Given the description of an element on the screen output the (x, y) to click on. 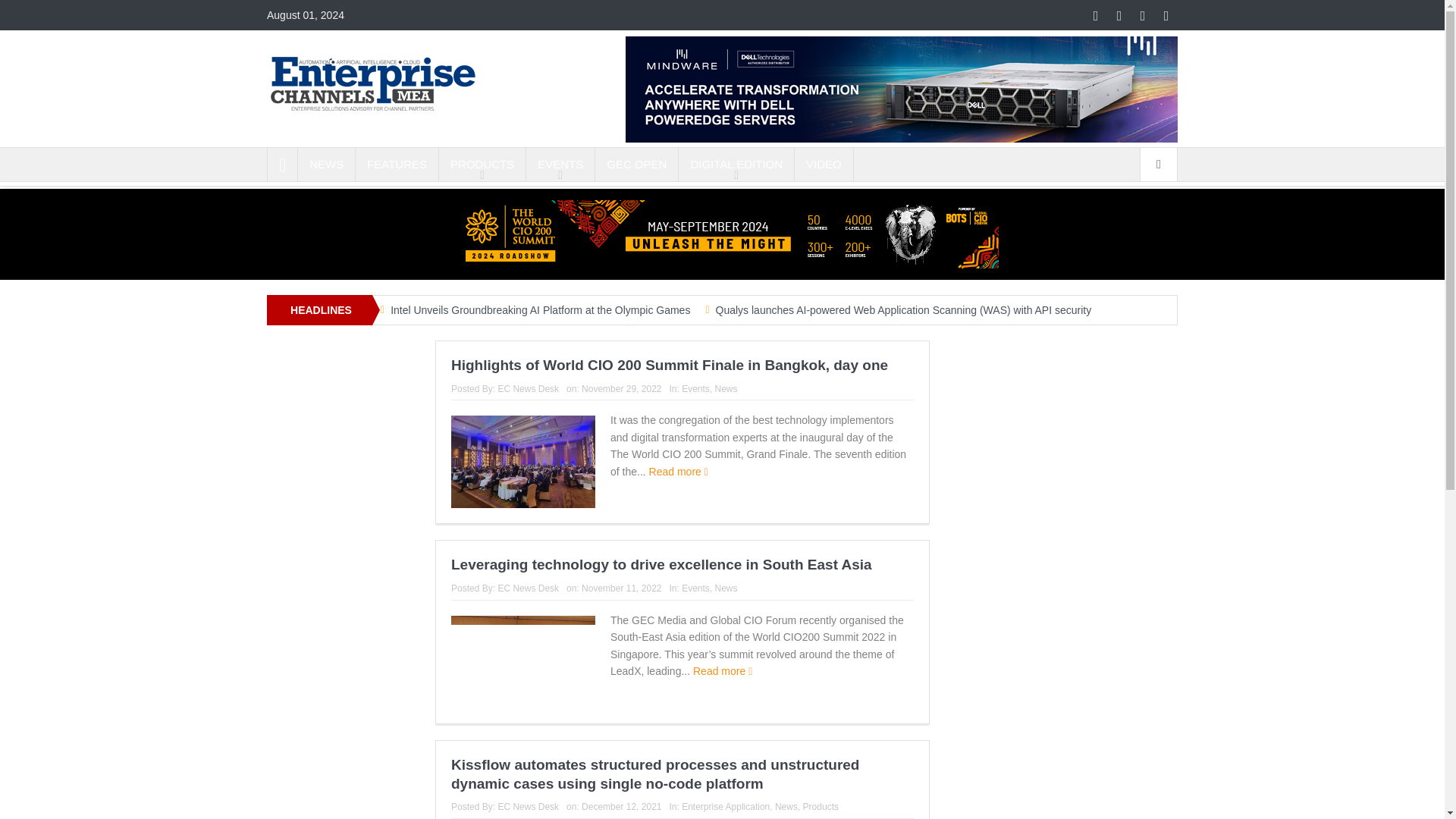
EVENTS (559, 164)
View all posts in Enterprise Application (725, 806)
FEATURES (396, 164)
View all posts in News (785, 806)
PRODUCTS (482, 164)
View all posts in Events (695, 588)
View all posts in News (726, 588)
NEWS (326, 164)
View all posts in Events (695, 388)
View all posts in News (726, 388)
View all posts in Products (820, 806)
